Given the description of an element on the screen output the (x, y) to click on. 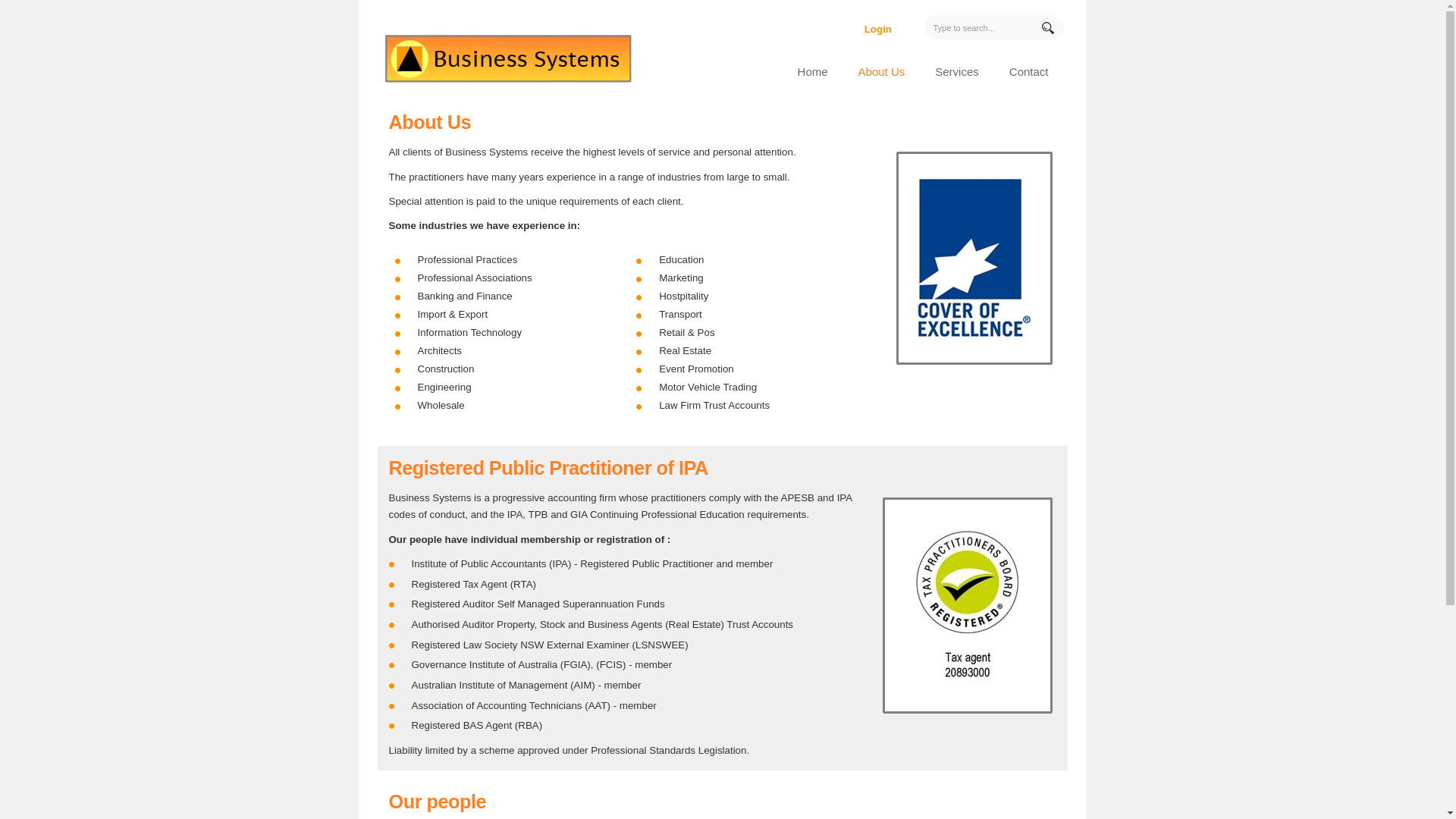
Login Element type: text (877, 28)
About Us Element type: text (881, 68)
Services Element type: text (956, 68)
Home Element type: text (812, 68)
Contact Element type: text (1028, 68)
